Given the description of an element on the screen output the (x, y) to click on. 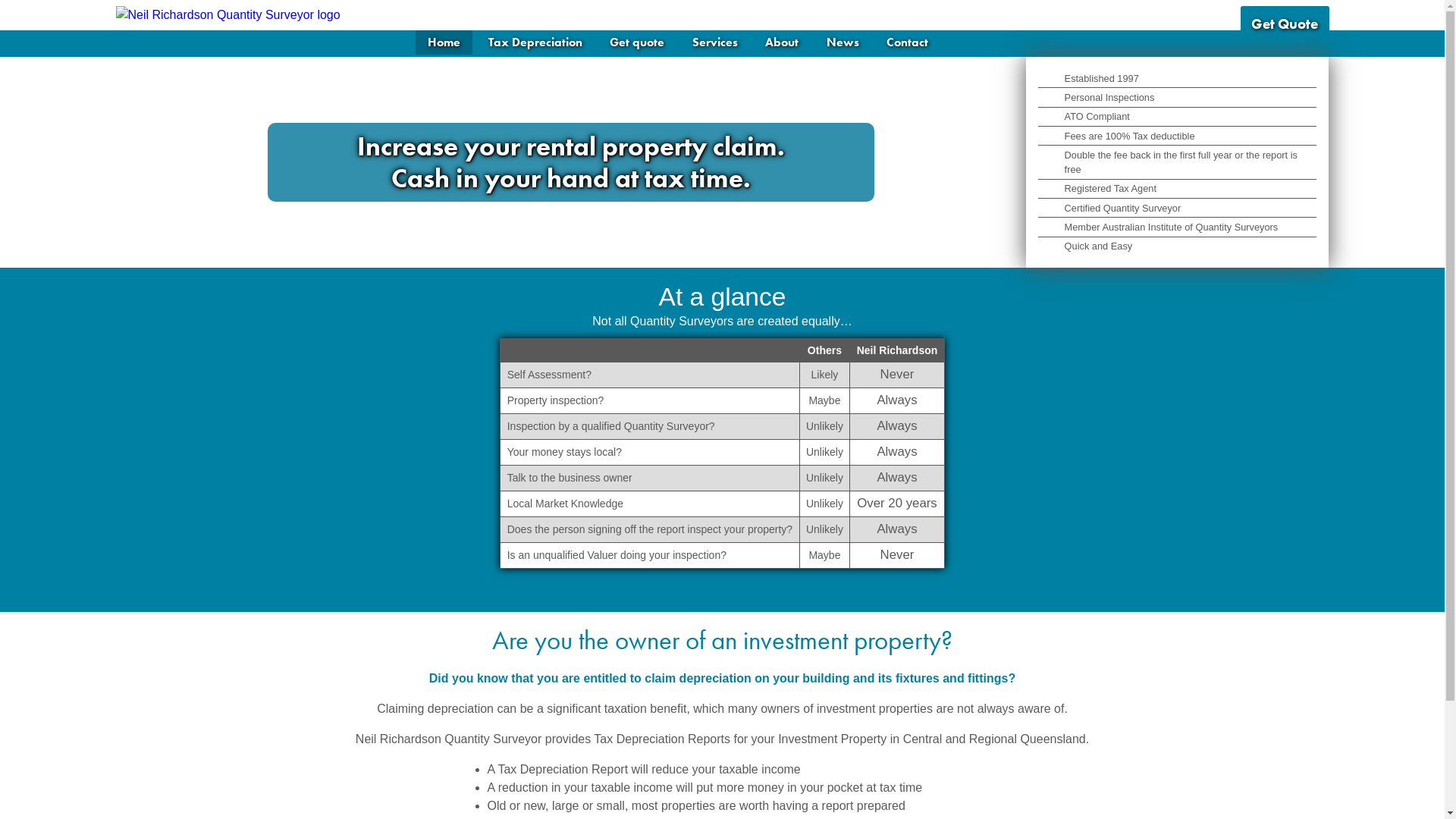
Services Element type: text (714, 42)
News Element type: text (842, 42)
Get quote Element type: text (636, 42)
Tax Depreciation Element type: text (535, 42)
Home Element type: text (443, 42)
Return to the homepage Element type: hover (228, 15)
Get Quote Element type: text (1284, 24)
About Element type: text (781, 42)
Contact Element type: text (907, 42)
